Given the description of an element on the screen output the (x, y) to click on. 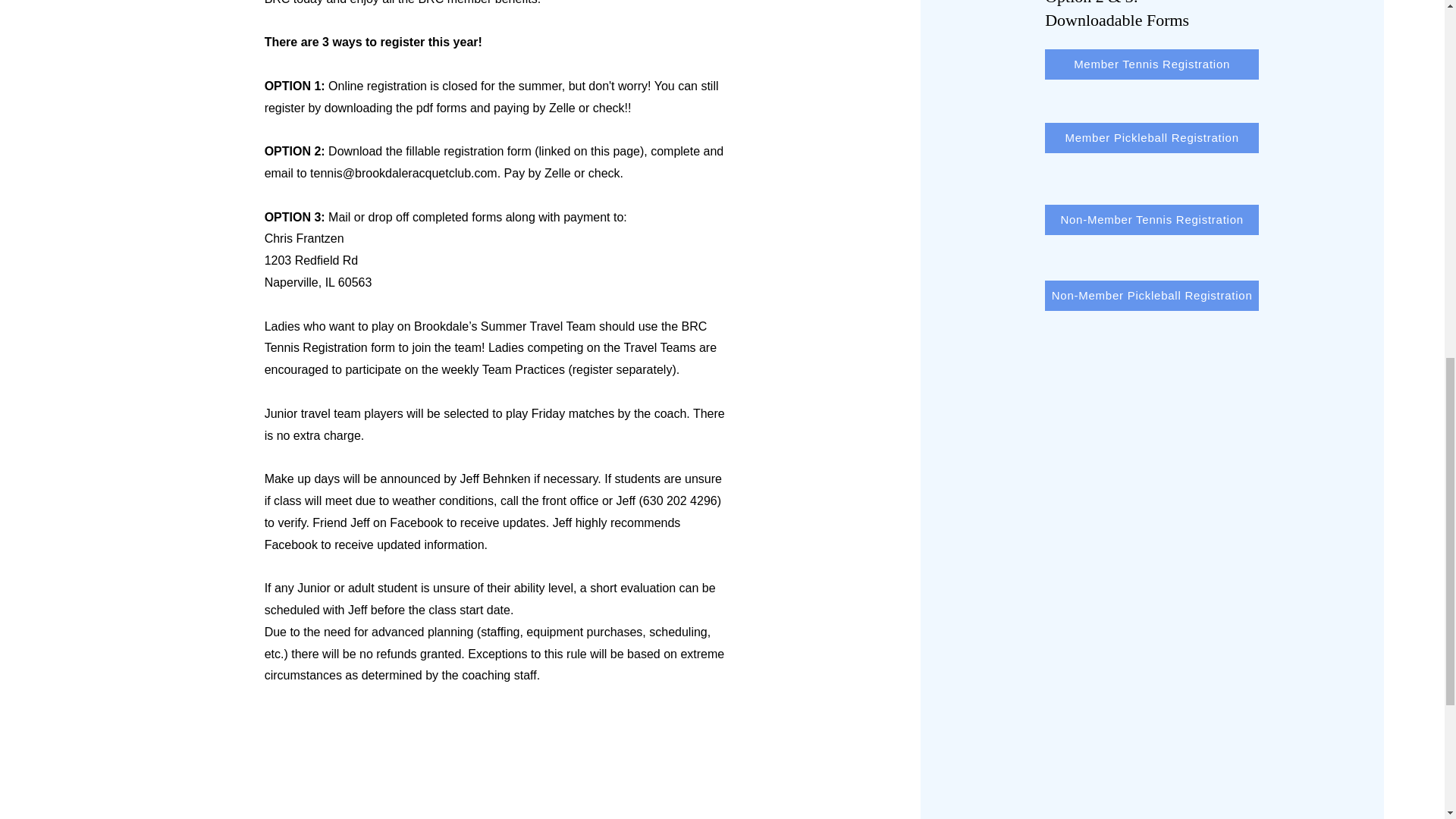
Non-Member Tennis Registration (1152, 219)
Member Pickleball Registration (1152, 137)
Non-Member Pickleball Registration (1152, 295)
Member Tennis Registration (1152, 64)
